Given the description of an element on the screen output the (x, y) to click on. 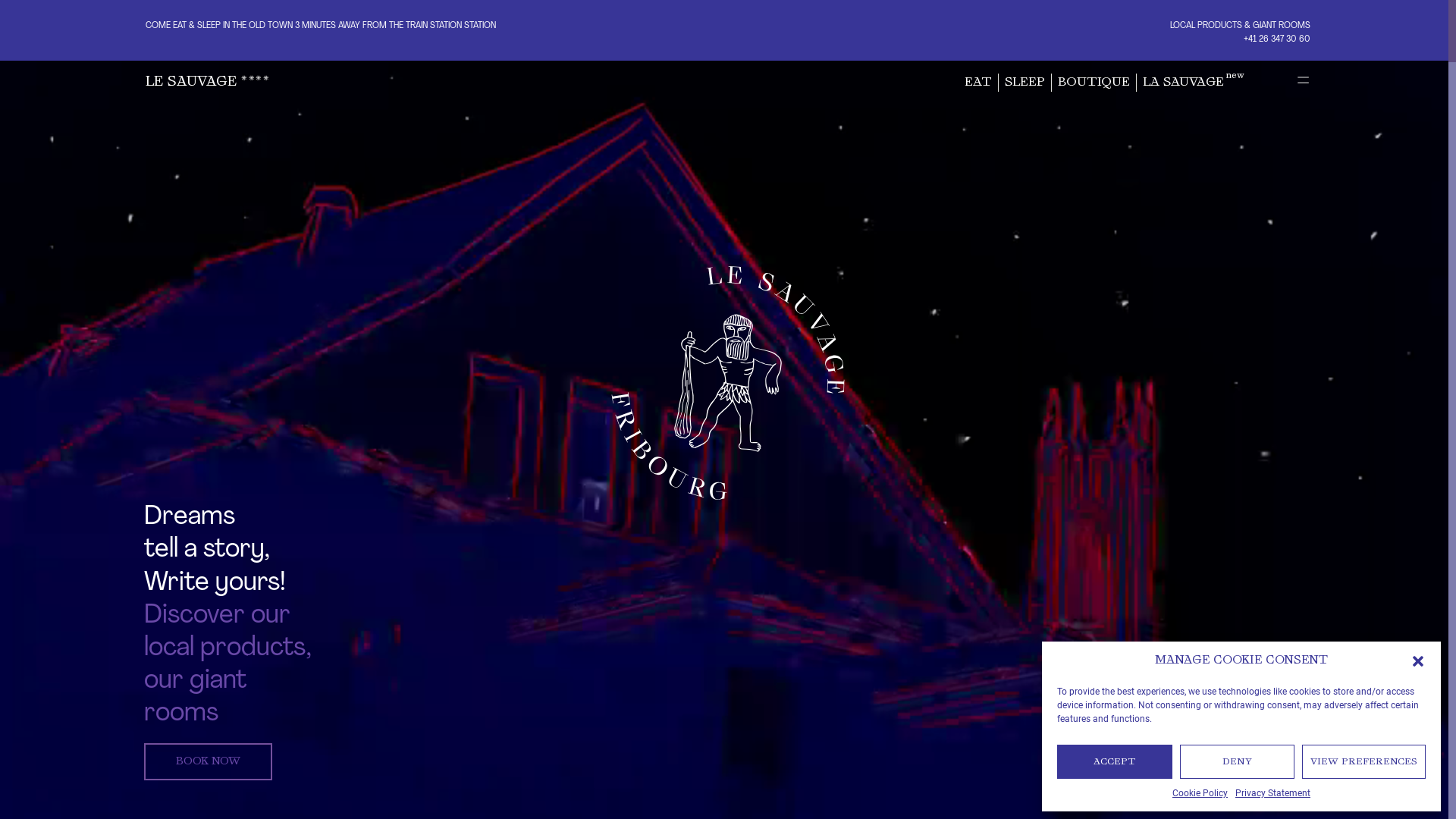
LA SAUVAGEnew Element type: text (1193, 82)
BOUTIQUE Element type: text (1093, 82)
BOOK NOW Element type: text (208, 761)
ACCEPT Element type: text (1114, 761)
DENY Element type: text (1237, 761)
SLEEP Element type: text (1024, 82)
EAT Element type: text (977, 82)
VIEW PREFERENCES Element type: text (1363, 761)
+41 26 347 30 60 Element type: text (1276, 38)
Privacy Statement Element type: text (1272, 793)
Cookie Policy Element type: text (1199, 793)
